Given the description of an element on the screen output the (x, y) to click on. 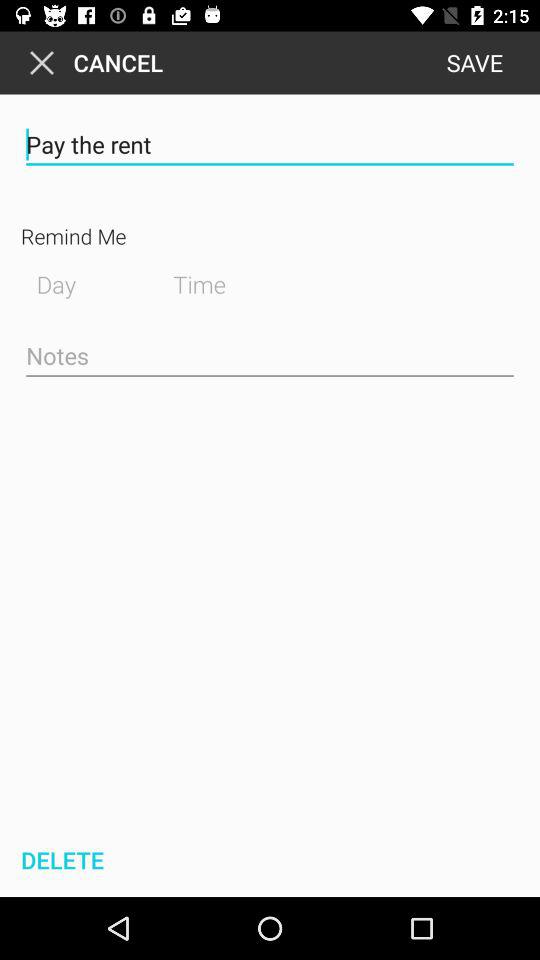
turn off icon below the cancel (270, 144)
